Given the description of an element on the screen output the (x, y) to click on. 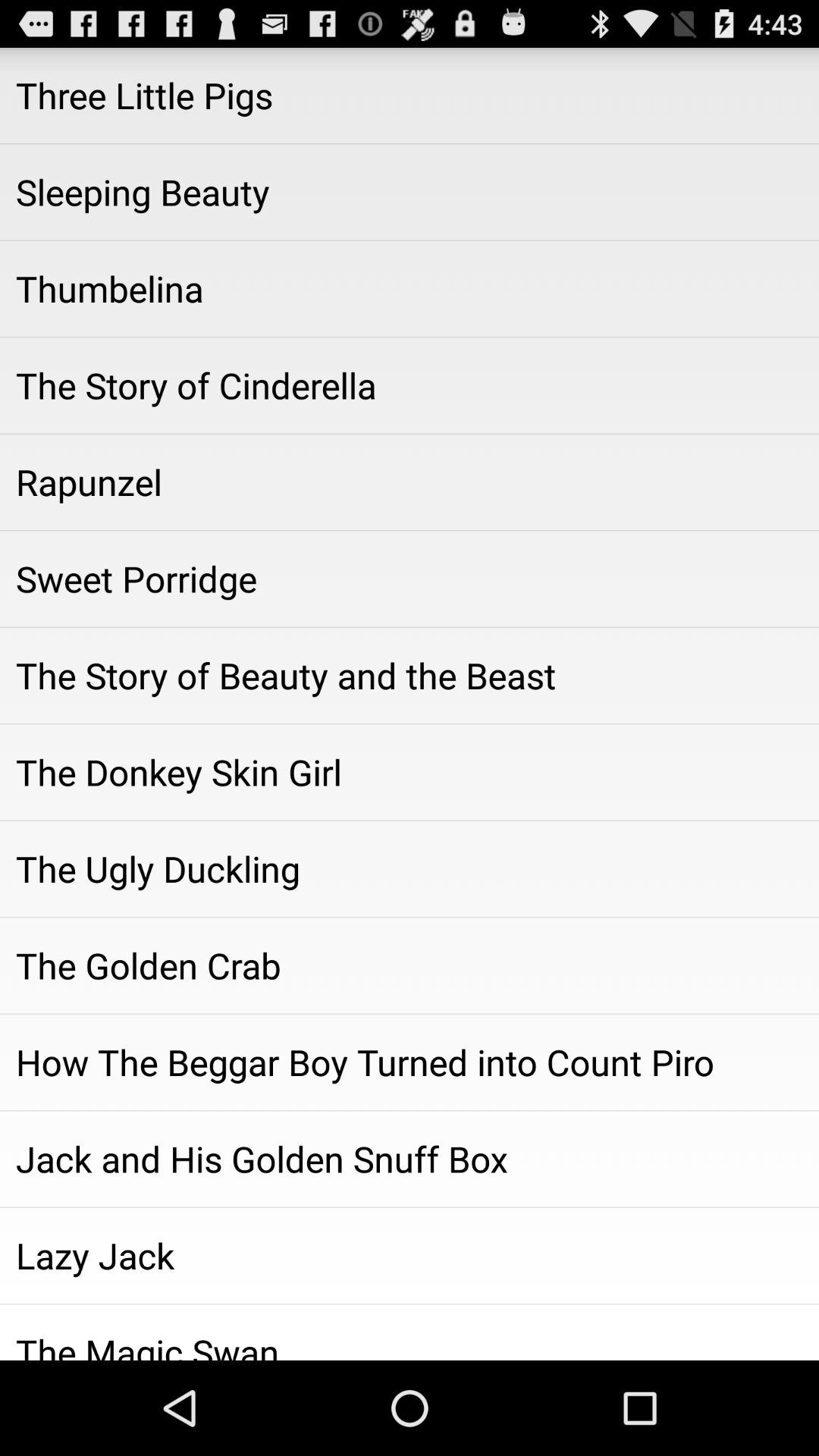
turn on app above lazy jack (409, 1158)
